Given the description of an element on the screen output the (x, y) to click on. 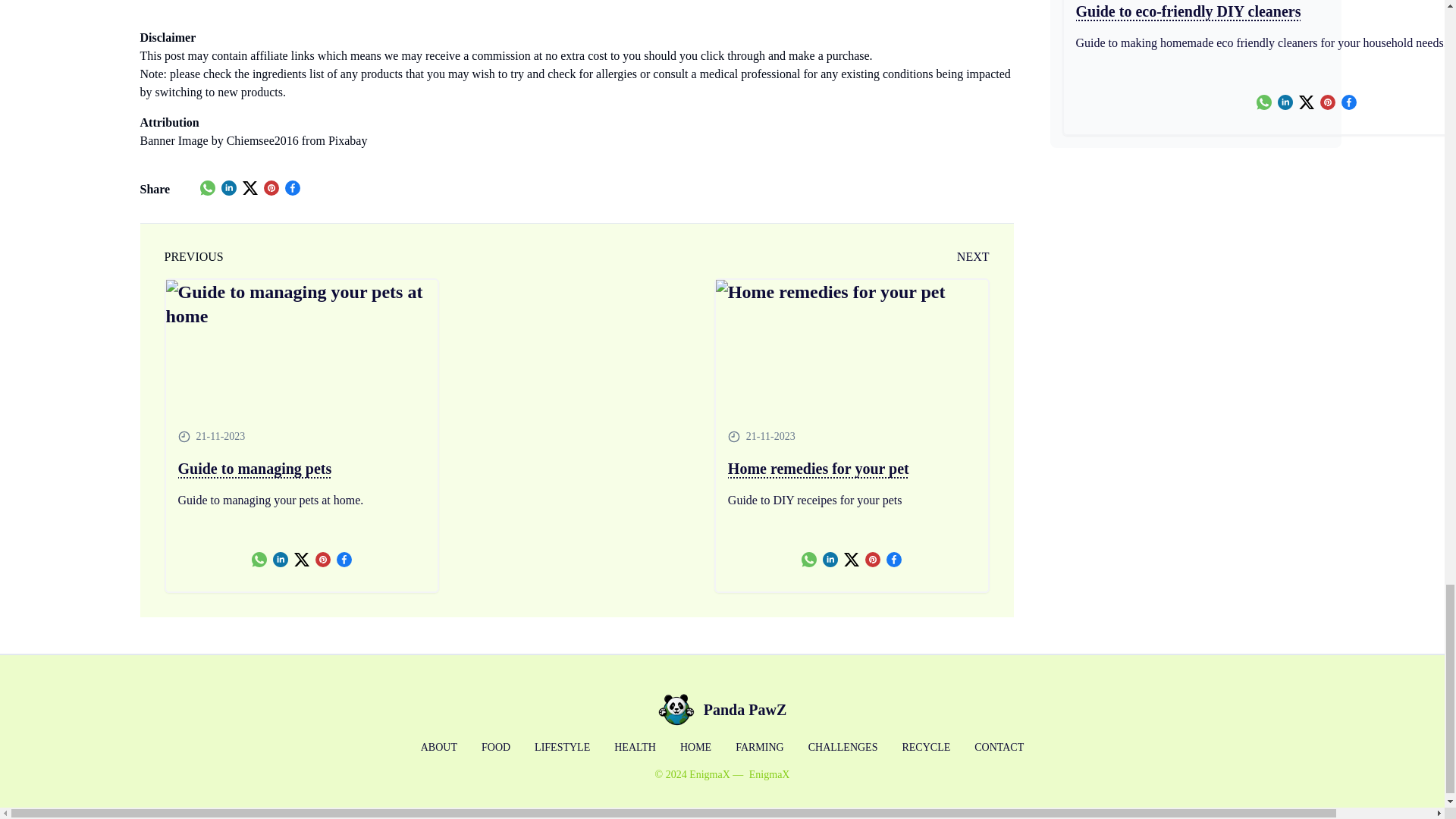
Image by Chiemsee2016 from Pixabay (272, 140)
share on Pininterest (322, 559)
share on LinkedIn (280, 559)
share on Facebook (292, 187)
share on Whatsapp (258, 559)
share on Whatsapp (207, 187)
Read more on Home remedies for your pet (852, 347)
share on X (250, 187)
share on Facebook (344, 559)
share on LinkedIn (228, 187)
